Given the description of an element on the screen output the (x, y) to click on. 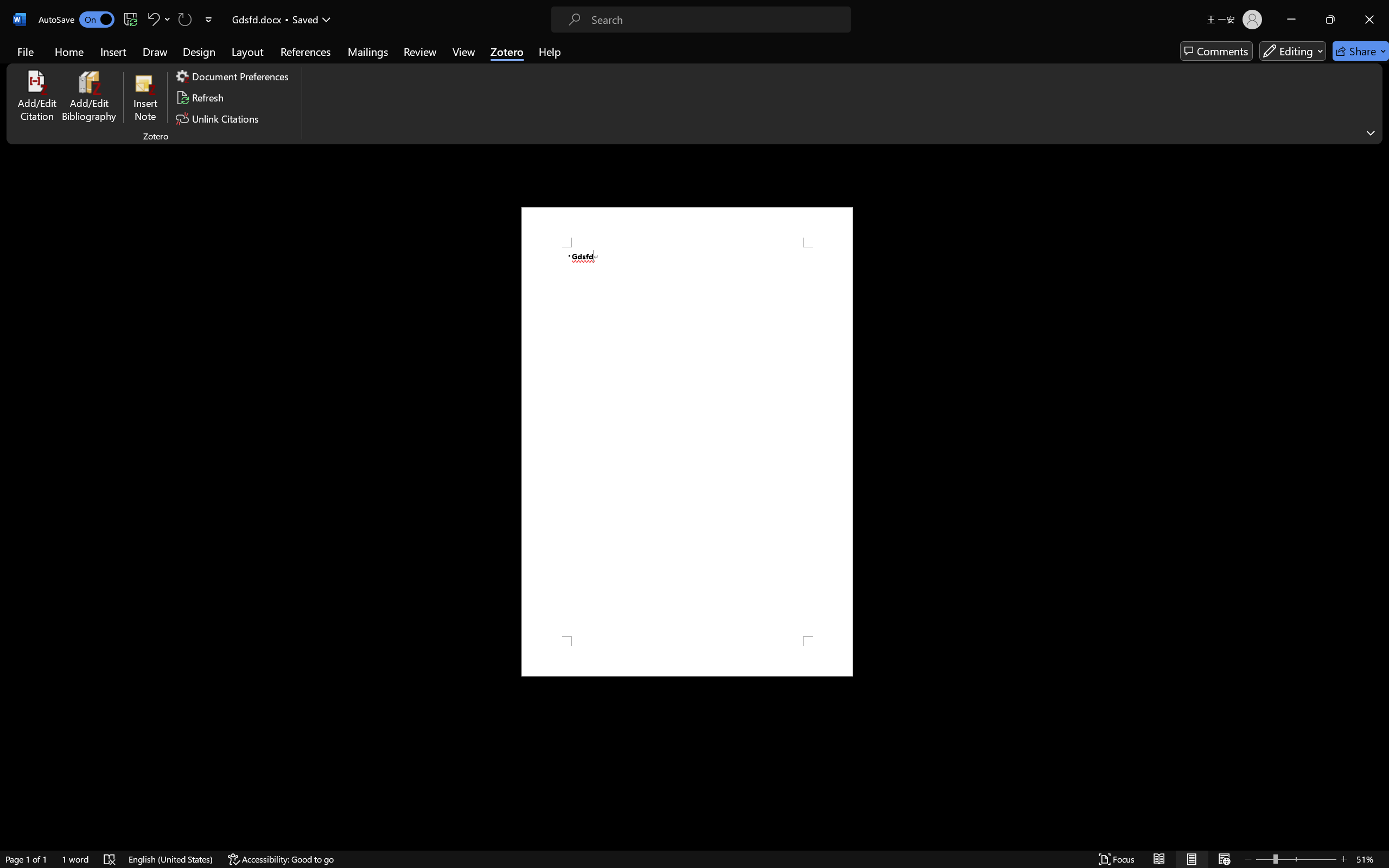
Right Brace (572, 72)
Bold (174, 71)
Select (727, 74)
Align Text (448, 62)
Change Case (263, 71)
Clear Formatting (312, 52)
